Given the description of an element on the screen output the (x, y) to click on. 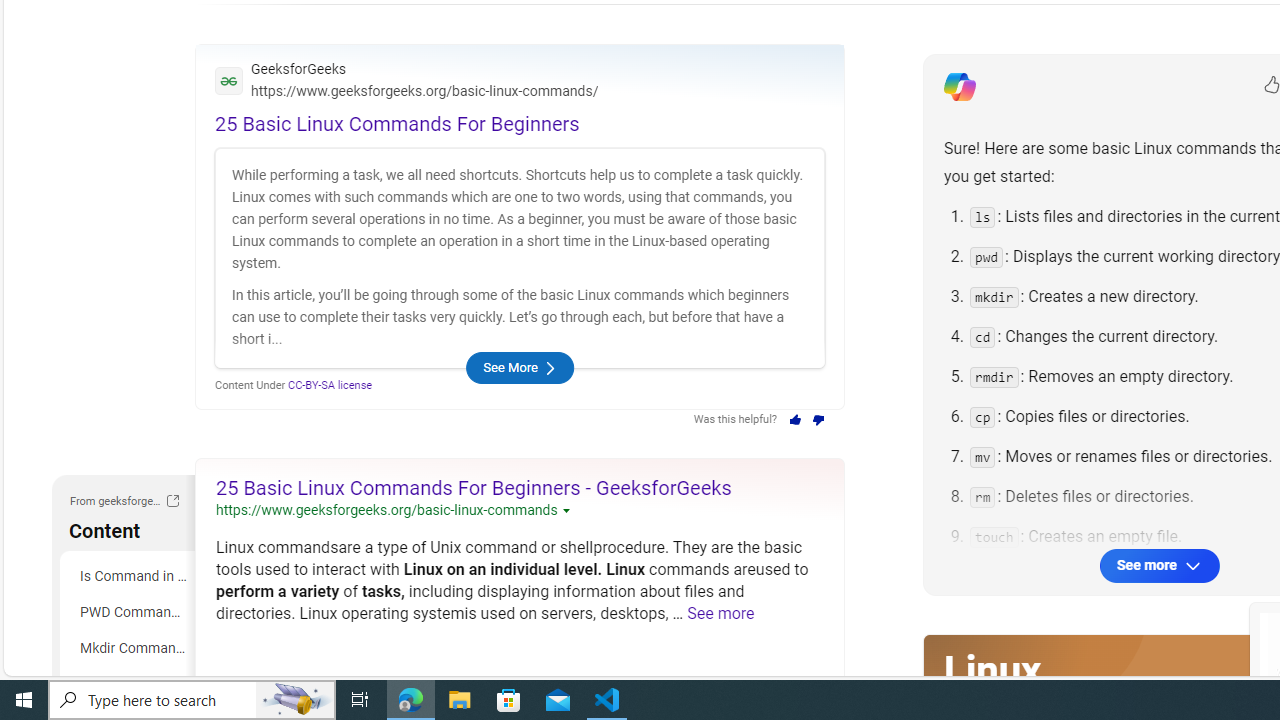
Mkdir Command in Linux (130, 648)
CC-BY-SA license (330, 384)
Thumbs up (794, 419)
Thumbs down (818, 419)
Class: b_ans b_top b_topborder (519, 226)
25 Basic Linux Commands For Beginners (397, 124)
CD Command in Linux (130, 684)
See More (519, 367)
From geeksforgeeks.org (172, 500)
Is Command in Linux (130, 576)
From geeksforgeeks.org (172, 503)
PWD Command in Linux (130, 612)
